Given the description of an element on the screen output the (x, y) to click on. 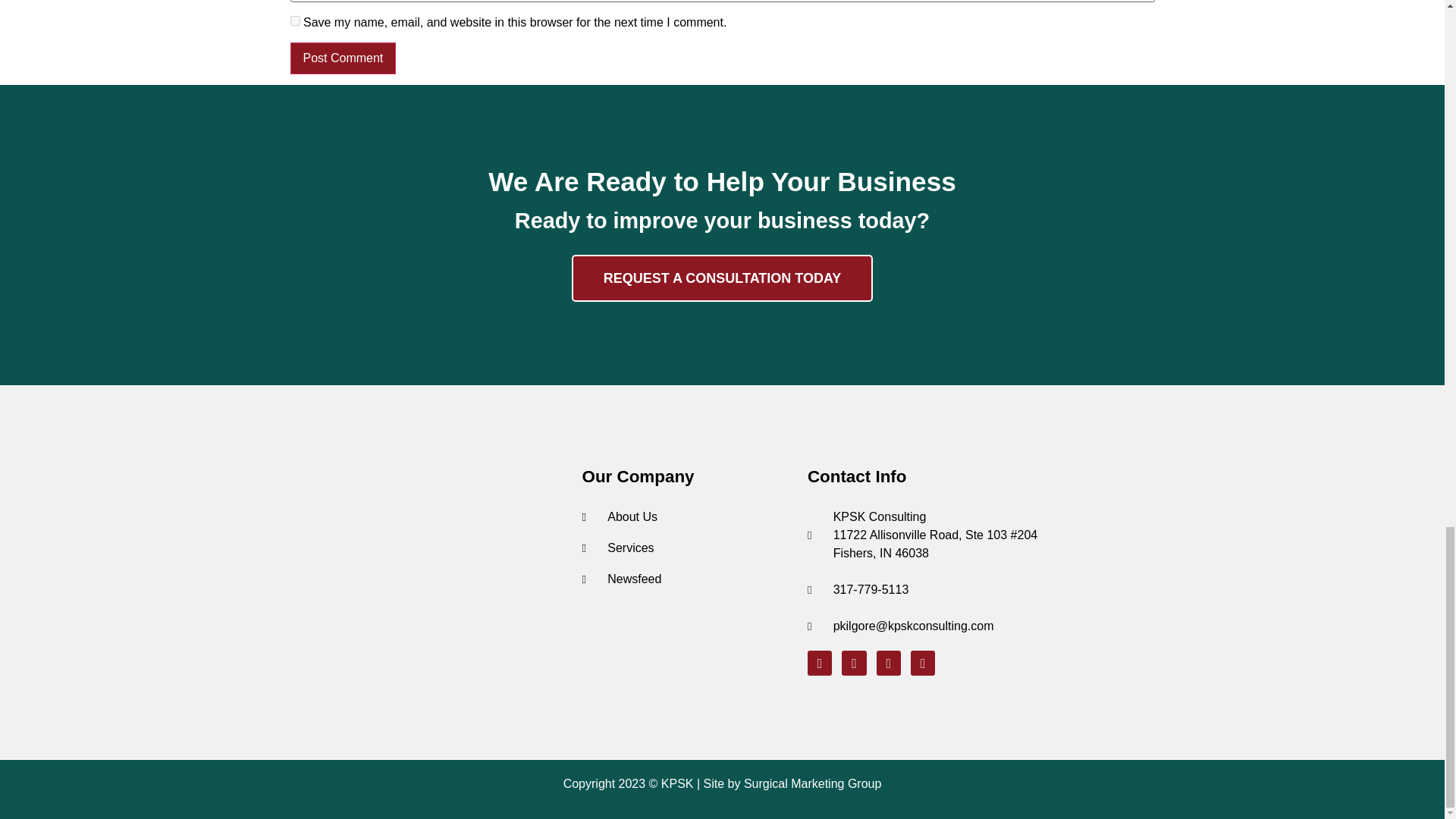
yes (294, 20)
Post Comment (342, 58)
Services (686, 547)
Newsfeed (686, 579)
REQUEST A CONSULTATION TODAY (722, 278)
About Us (686, 516)
Post Comment (342, 58)
